Given the description of an element on the screen output the (x, y) to click on. 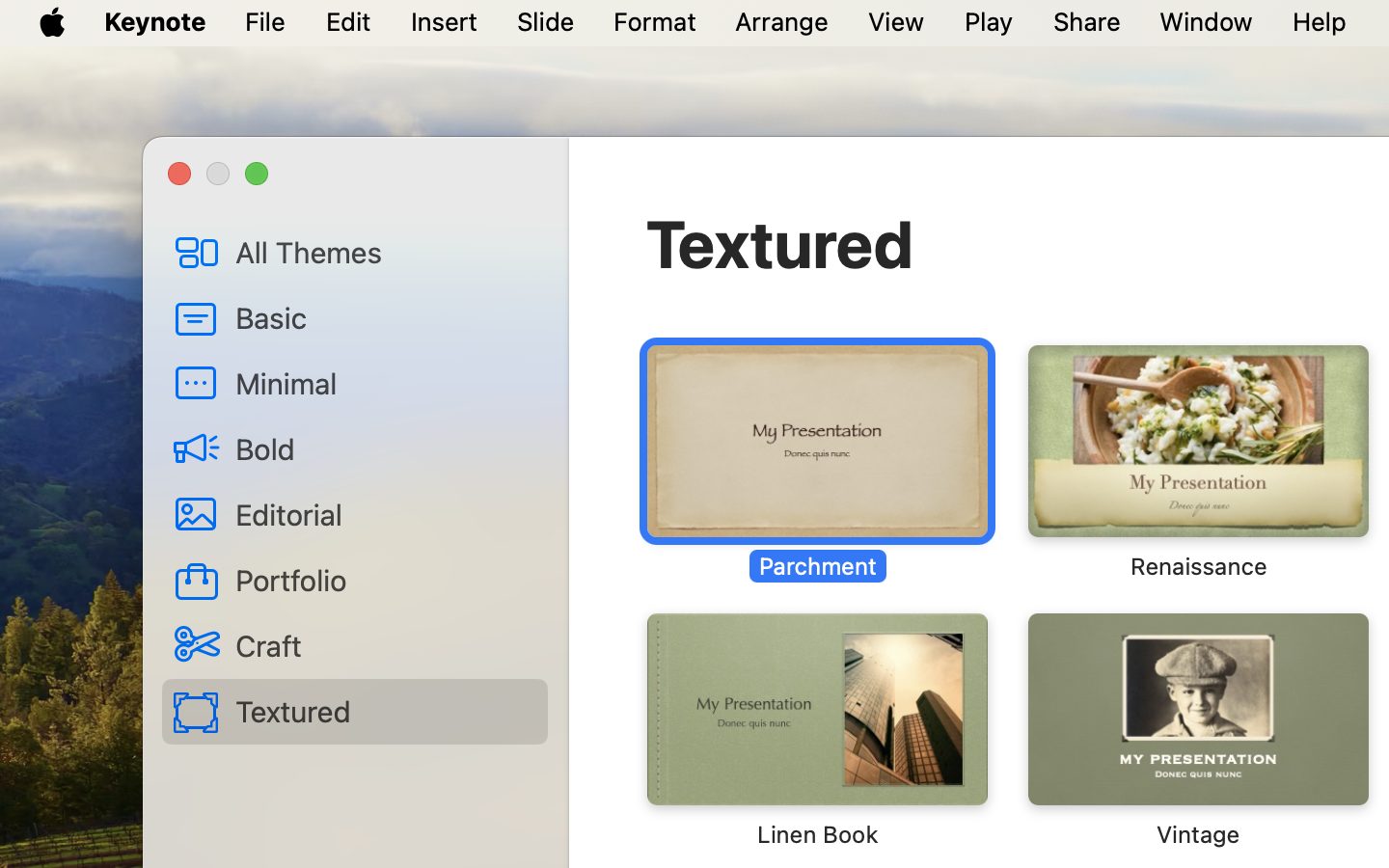
‎⁨Linen Book⁩ Element type: AXButton (816, 731)
Bold Element type: AXStaticText (383, 448)
